Given the description of an element on the screen output the (x, y) to click on. 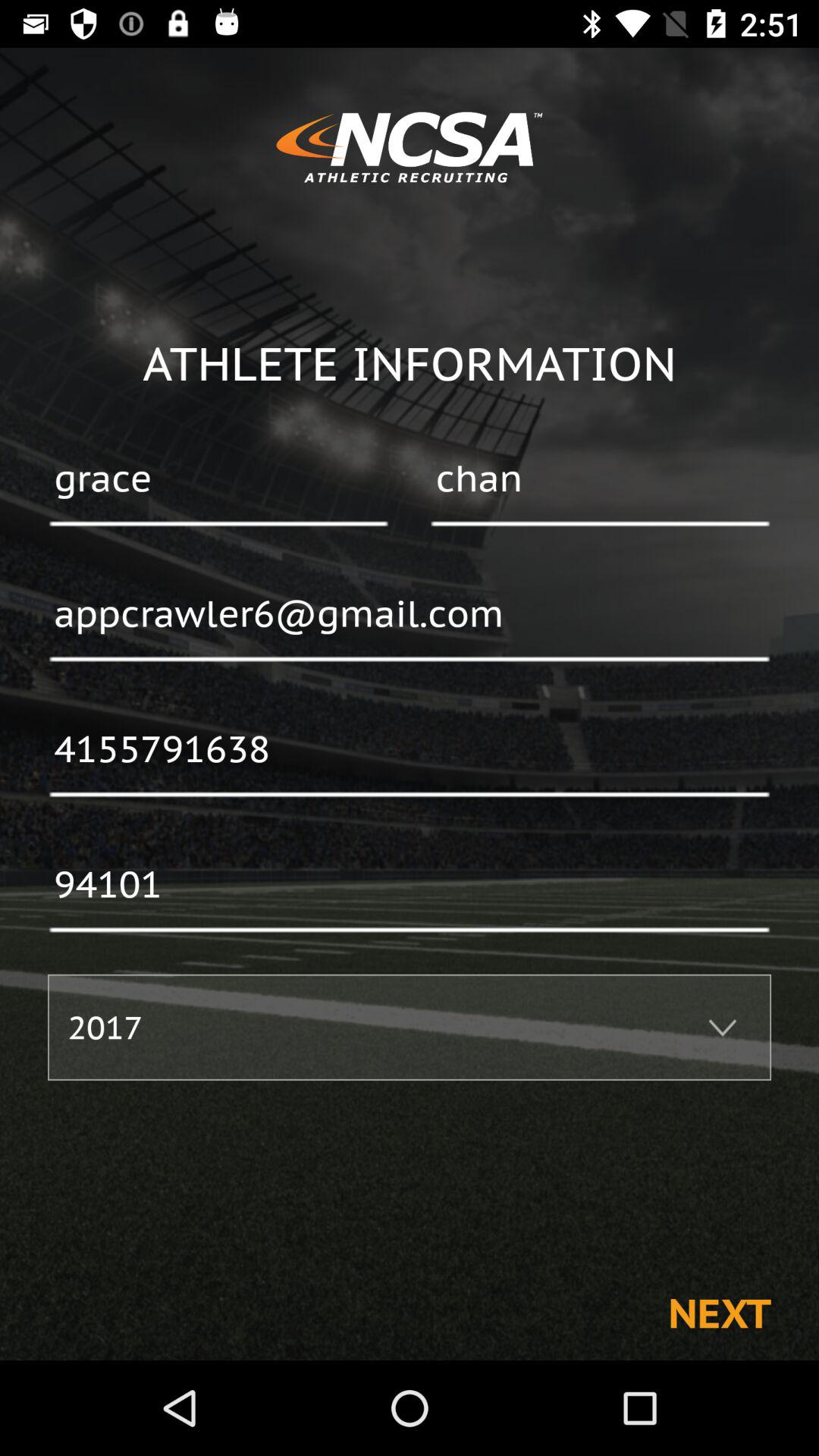
tap item below the 4155791638 item (409, 885)
